Given the description of an element on the screen output the (x, y) to click on. 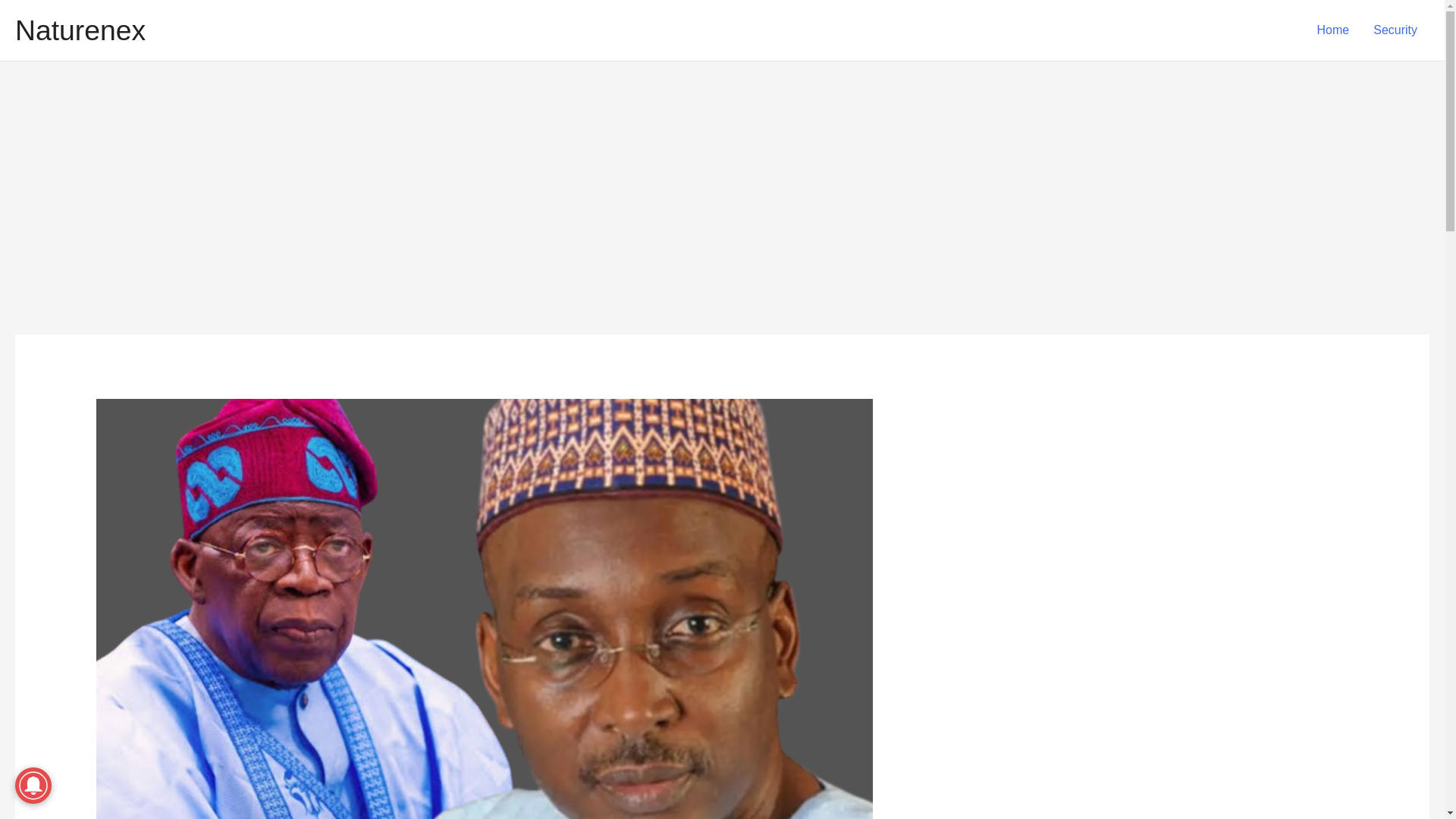
Home (1332, 30)
Security (1395, 30)
Naturenex (79, 29)
